Given the description of an element on the screen output the (x, y) to click on. 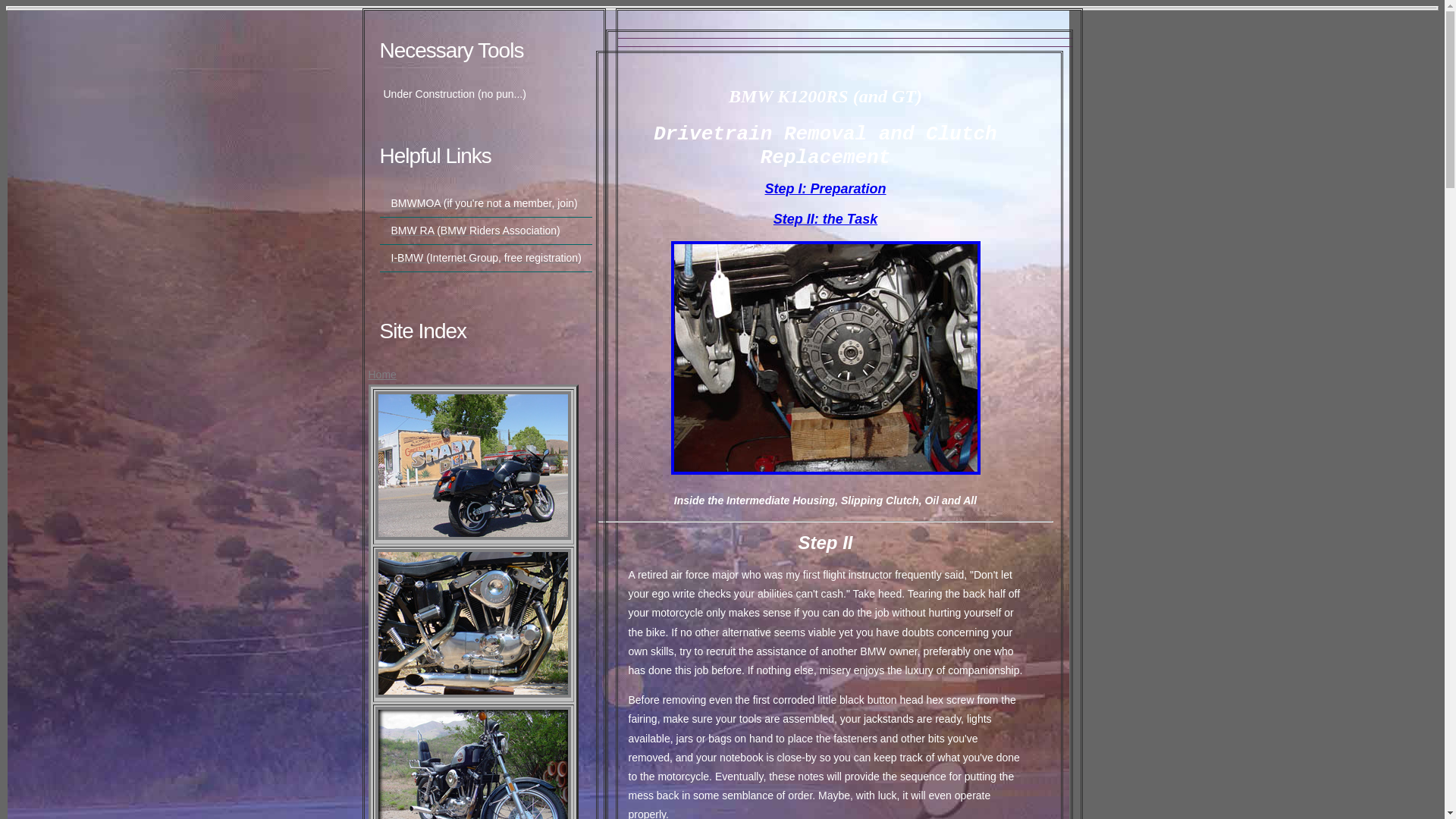
Step II: the Task Element type: text (825, 218)
Step I: Preparation Element type: text (824, 188)
BMWMOA (if you're not a member, join) Element type: text (484, 203)
BMW RA (BMW Riders Association) Element type: text (475, 230)
Home Element type: text (382, 374)
I-BMW (Internet Group, free registration) Element type: text (486, 257)
